Given the description of an element on the screen output the (x, y) to click on. 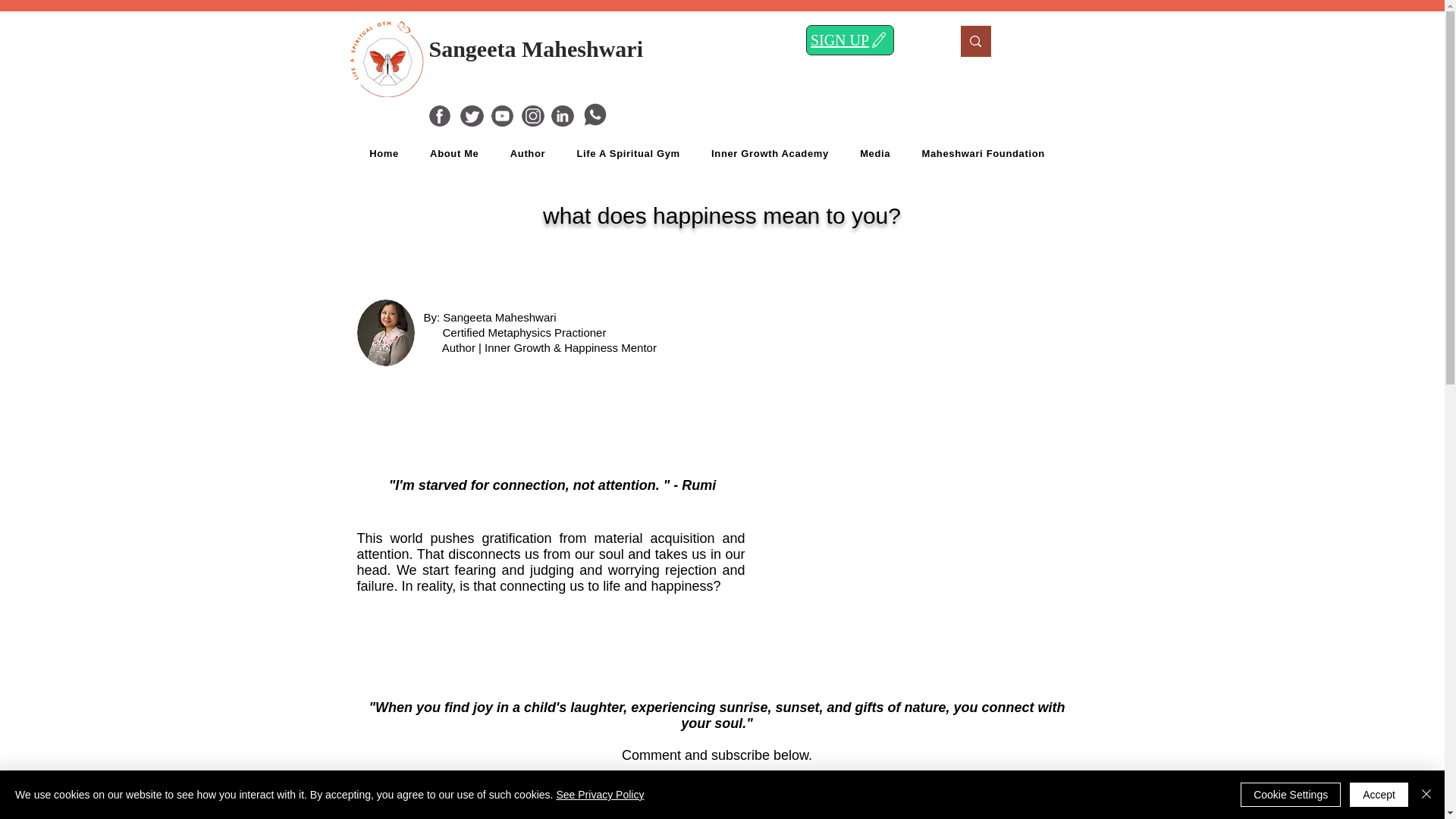
Maheshwari Foundation (983, 153)
Life A Spiritual Gym (628, 153)
Media (874, 153)
Sangeeta Maheshwari (536, 48)
Inner Growth Academy (769, 153)
About Me (454, 153)
Author (527, 153)
SIGN UP (849, 40)
Home (383, 153)
